Given the description of an element on the screen output the (x, y) to click on. 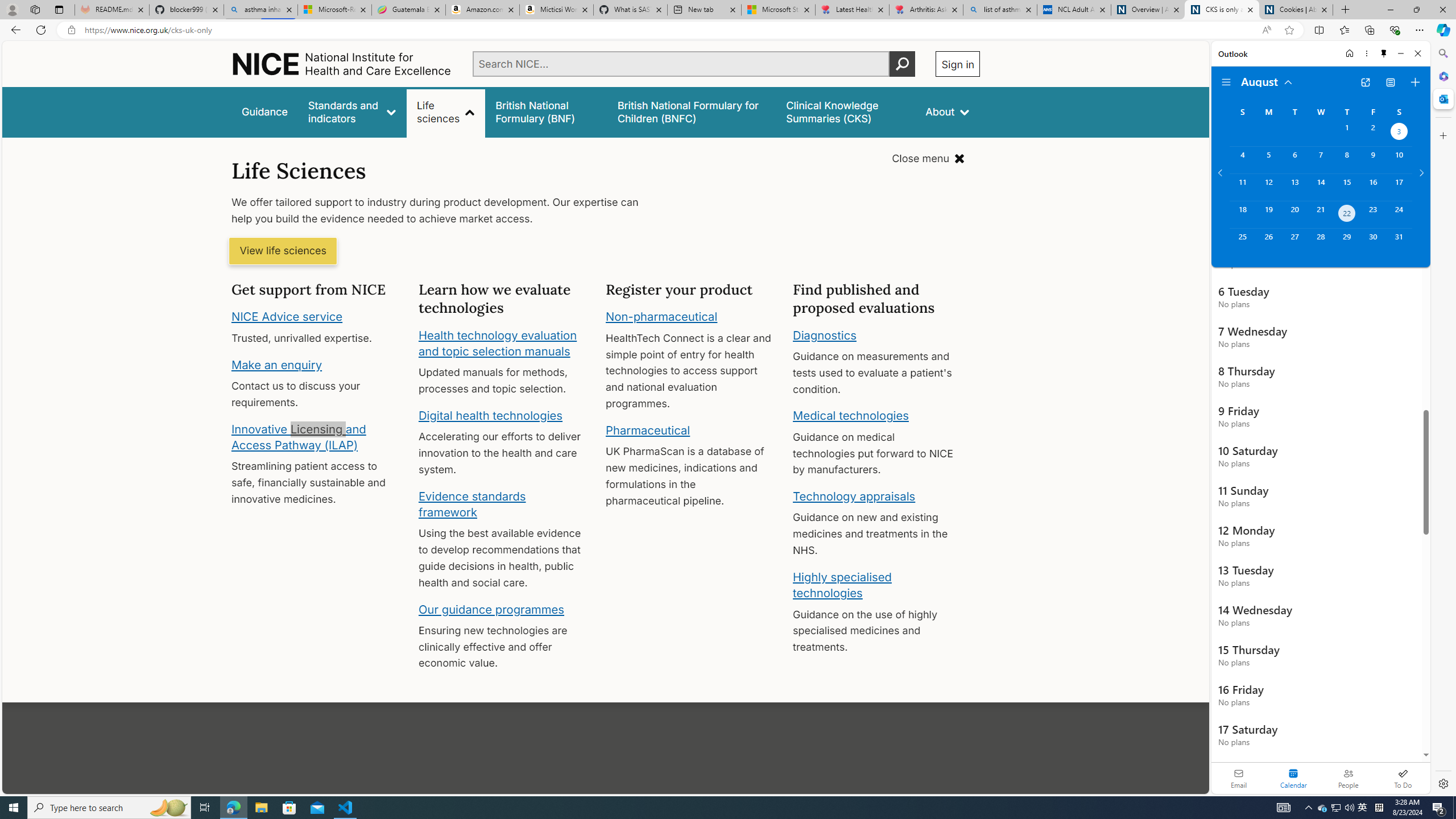
Saturday, August 17, 2024.  (1399, 186)
Friday, August 30, 2024.  (1372, 241)
asthma inhaler - Search (260, 9)
Technology appraisals (854, 495)
NICE Advice service (287, 316)
View life sciences (282, 251)
Saturday, August 10, 2024.  (1399, 159)
Thursday, August 1, 2024.  (1346, 132)
